Given the description of an element on the screen output the (x, y) to click on. 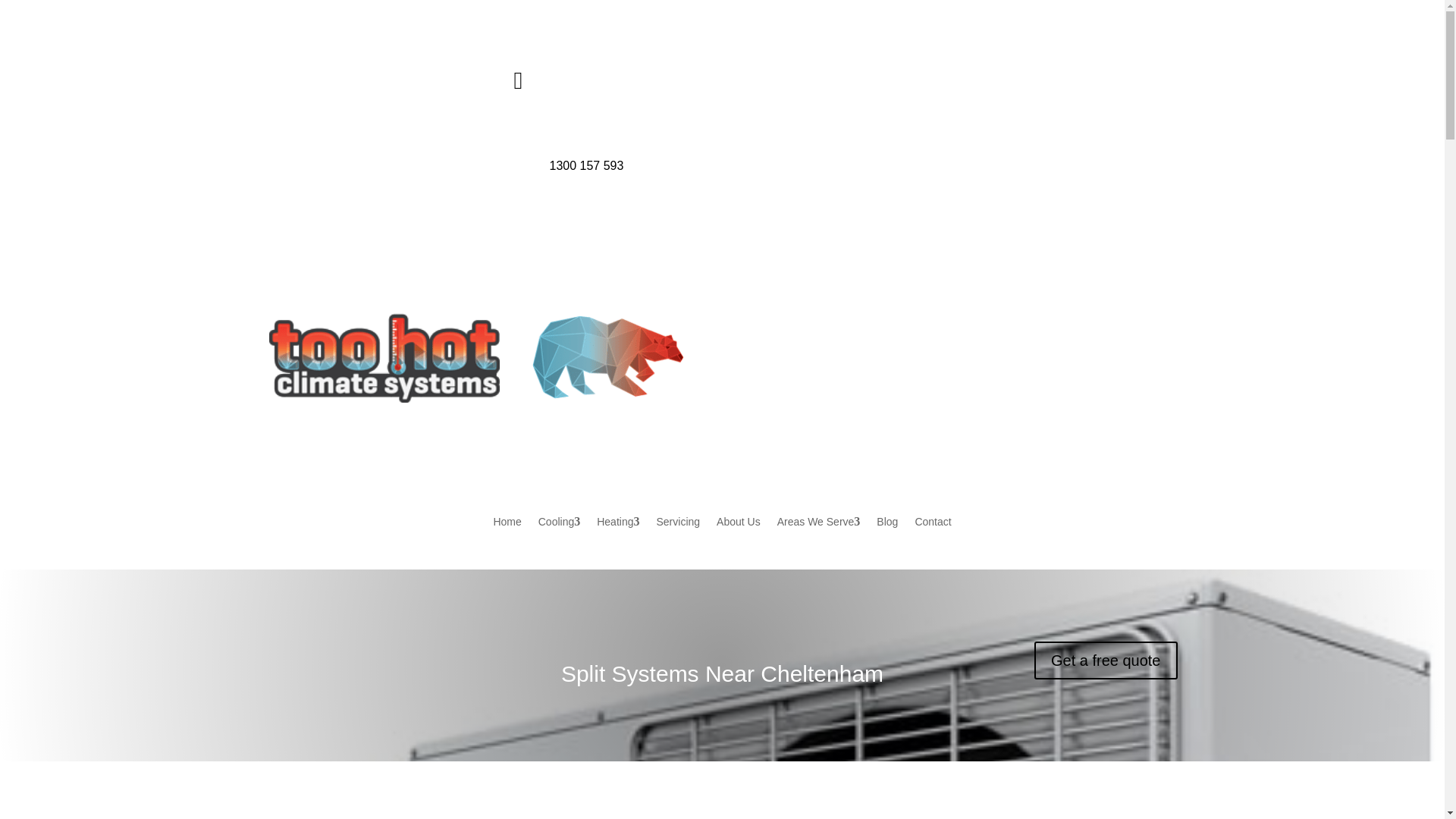
Logo-landscape-min (474, 357)
1300 157 593 (585, 164)
